Given the description of an element on the screen output the (x, y) to click on. 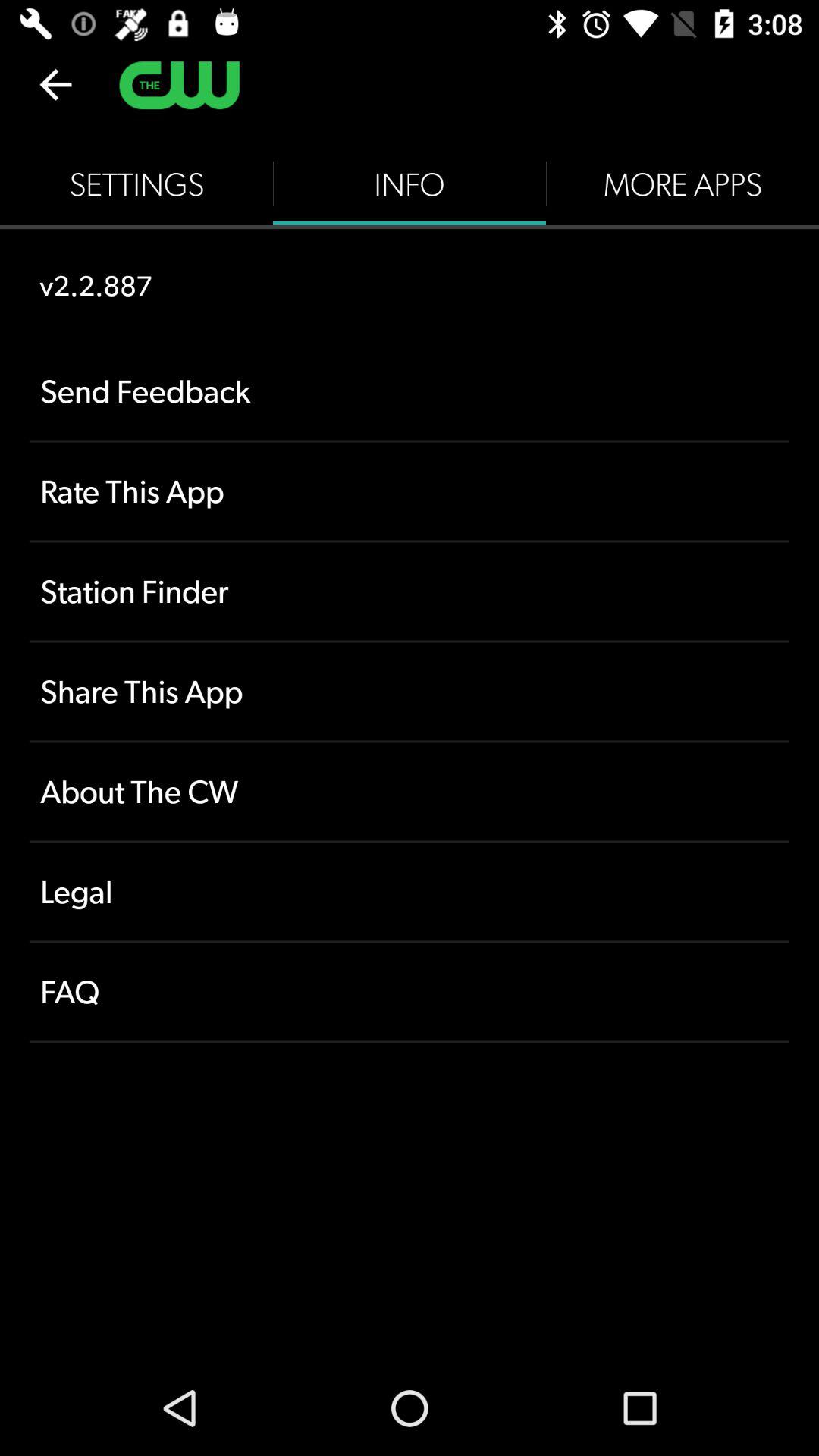
press send feedback item (409, 391)
